Given the description of an element on the screen output the (x, y) to click on. 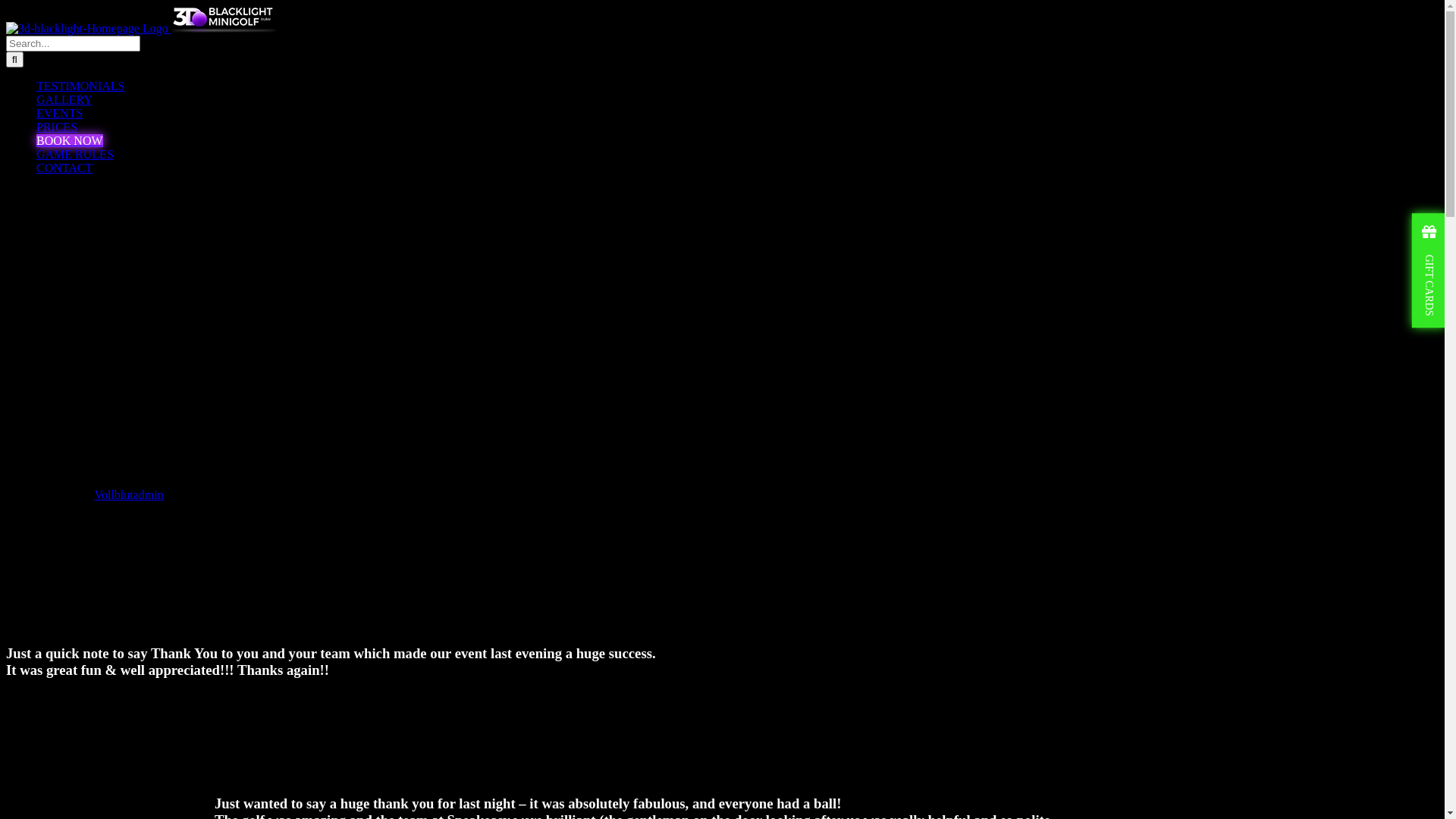
CONTACT Element type: text (64, 167)
EVENTS Element type: text (59, 112)
PRICES Element type: text (56, 126)
BOOK NOW Element type: text (69, 140)
Vollblutadmin Element type: text (128, 494)
Skip to content Element type: text (5, 5)
GAME RULES Element type: text (74, 153)
GALLERY Element type: text (64, 99)
TESTIMONIALS Element type: text (80, 85)
